Given the description of an element on the screen output the (x, y) to click on. 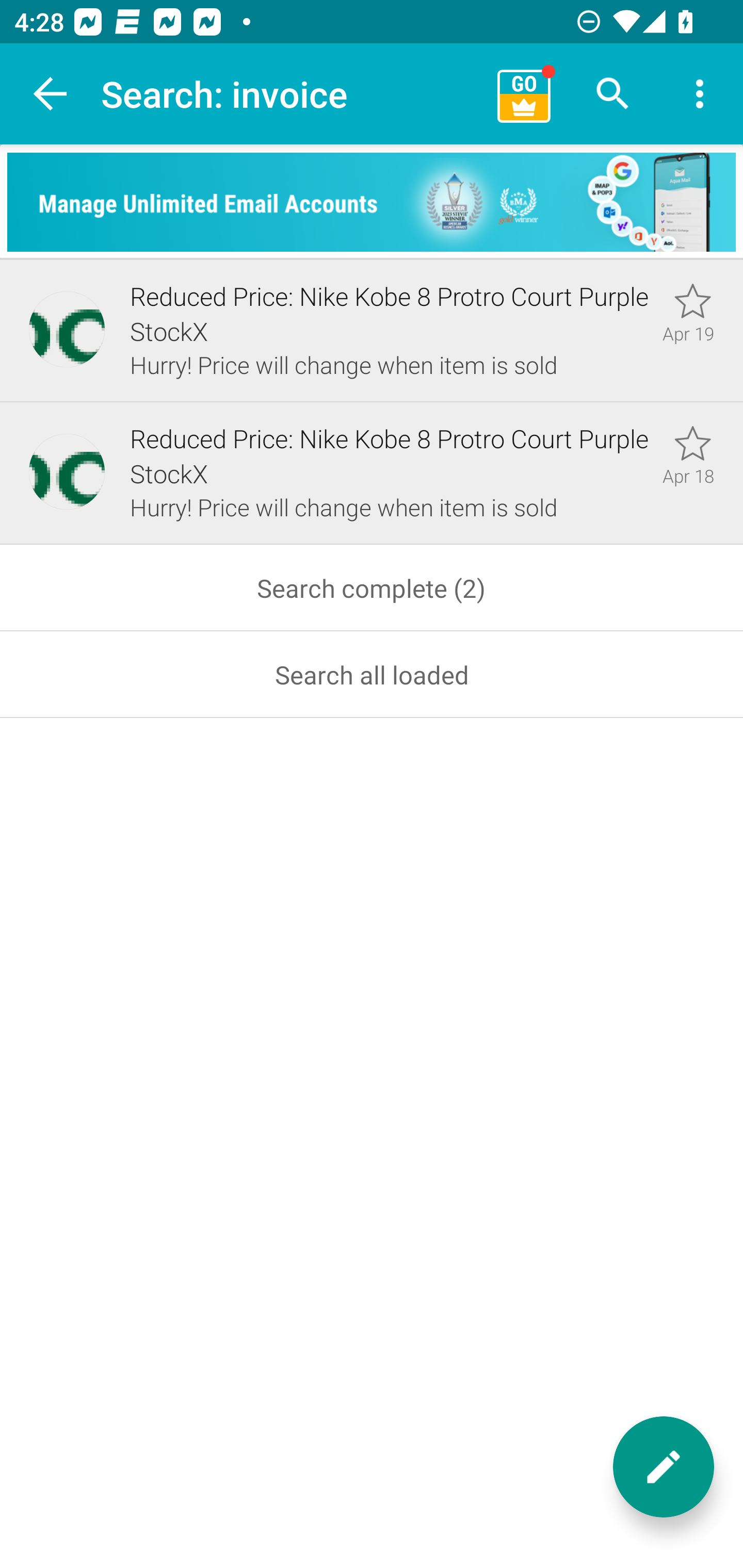
Navigate up (50, 93)
Search (612, 93)
More options (699, 93)
Search complete (2) (371, 587)
Search all loaded (371, 674)
New message (663, 1466)
